Given the description of an element on the screen output the (x, y) to click on. 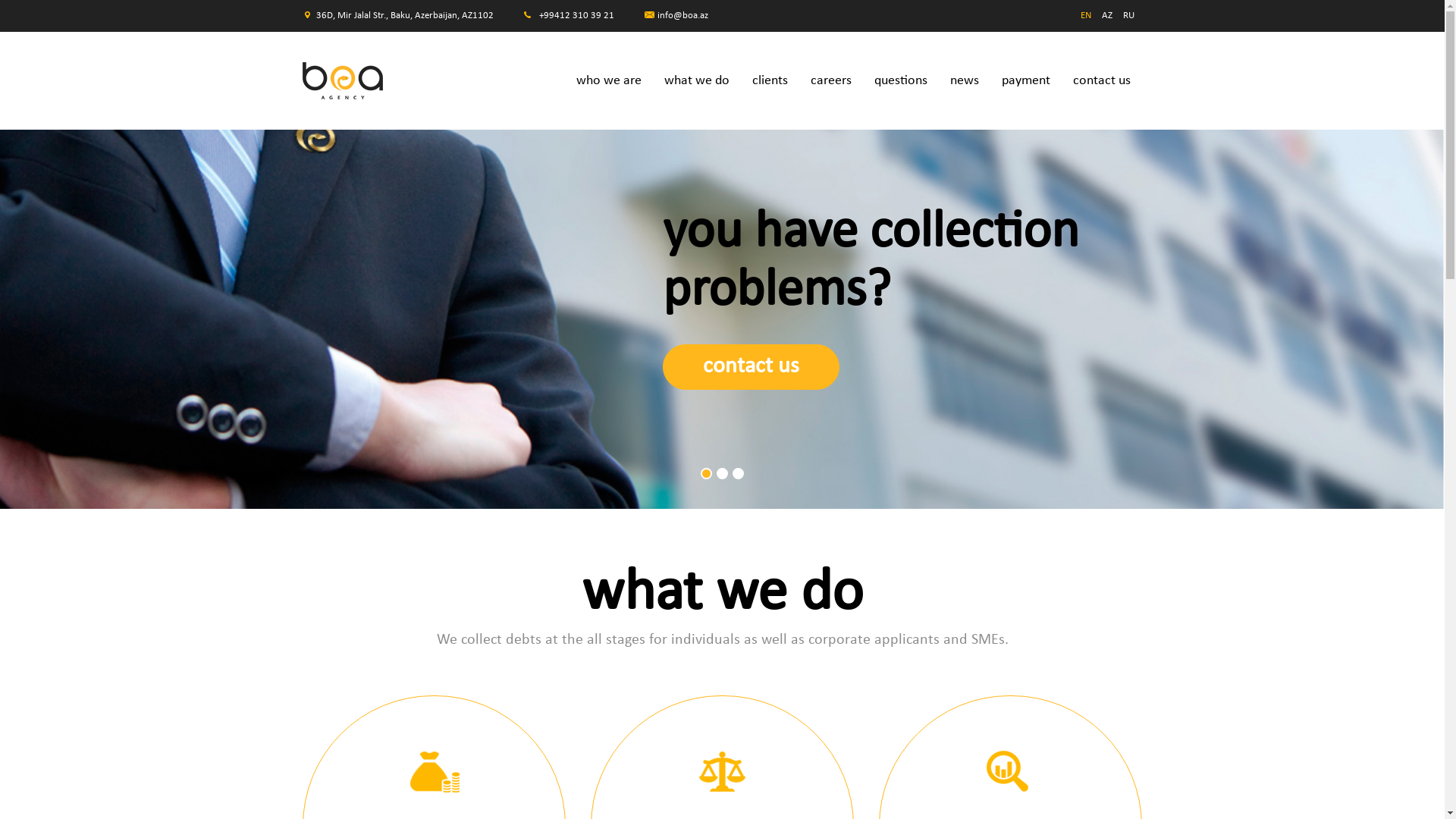
payment Element type: text (1025, 80)
what we do Element type: text (696, 80)
EN Element type: text (1085, 15)
careers Element type: text (830, 80)
AZ Element type: text (1106, 15)
contact us Element type: text (750, 366)
news Element type: text (964, 80)
clients Element type: text (769, 80)
who we are Element type: text (608, 80)
contact us Element type: text (1101, 80)
RU Element type: text (1128, 15)
questions Element type: text (900, 80)
